Given the description of an element on the screen output the (x, y) to click on. 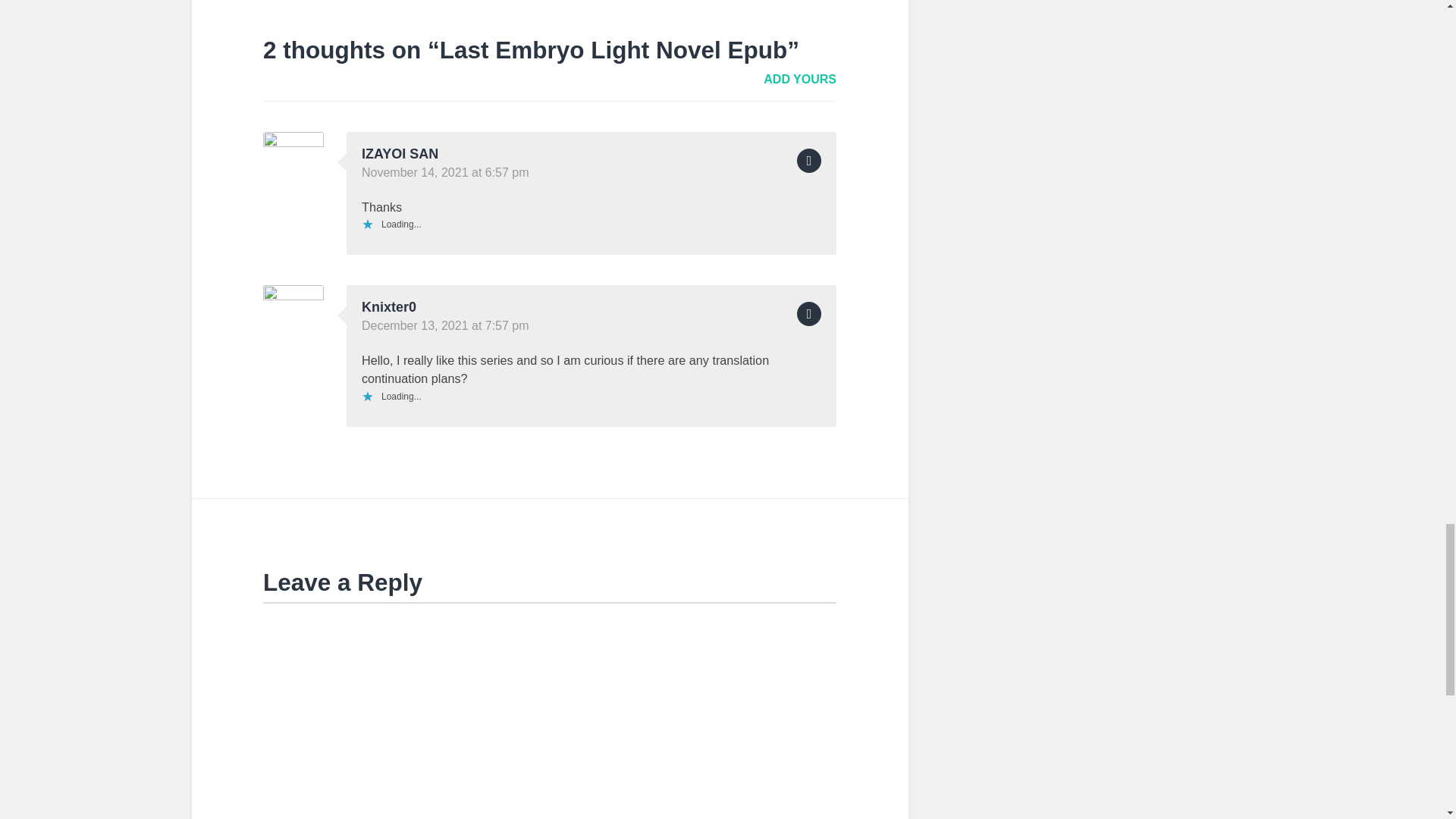
Comment Form (549, 710)
ADD YOURS (798, 78)
